Given the description of an element on the screen output the (x, y) to click on. 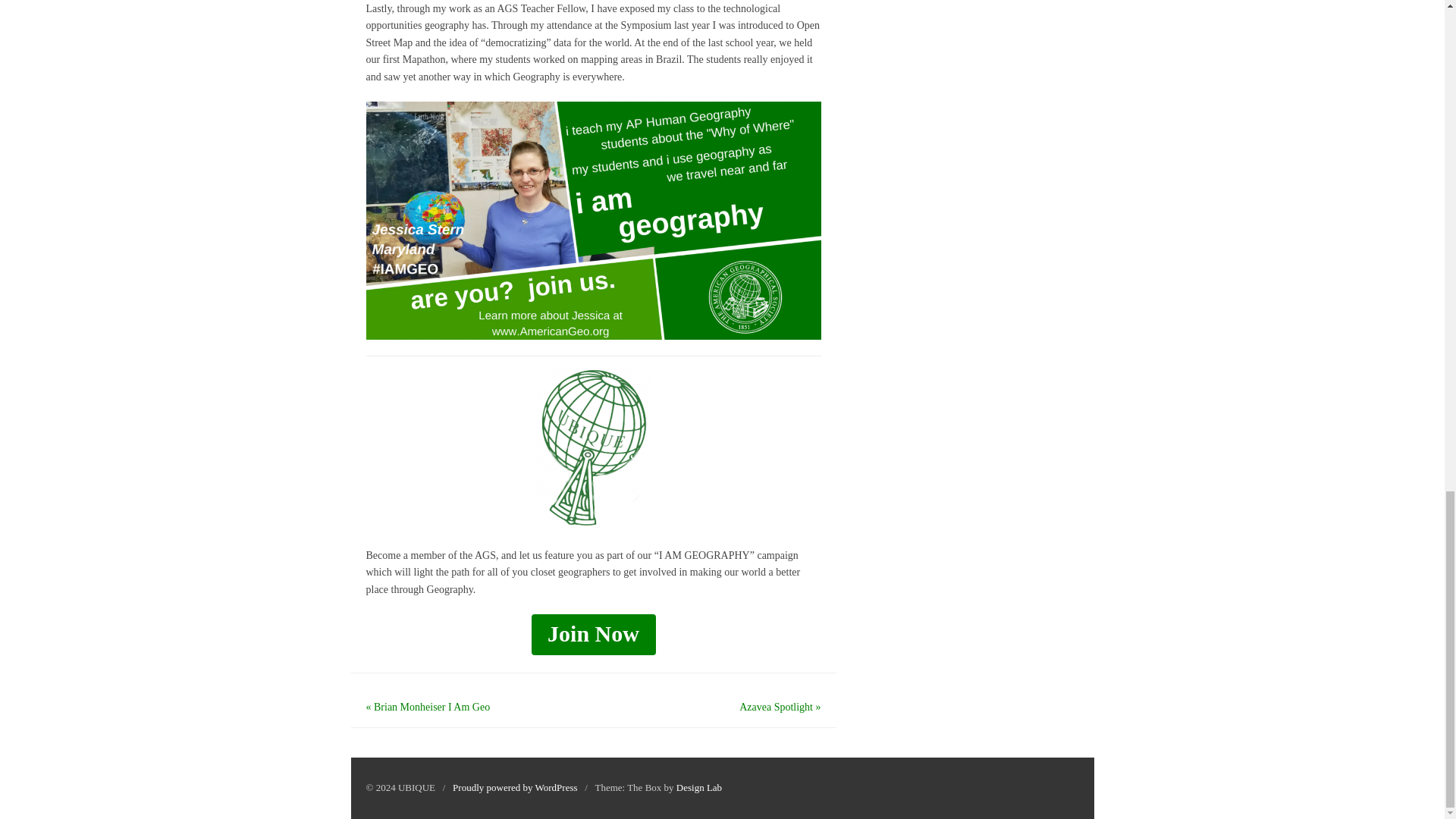
Join Now (593, 634)
Proudly powered by WordPress (514, 787)
Design Lab (699, 787)
Join Now (593, 634)
